Given the description of an element on the screen output the (x, y) to click on. 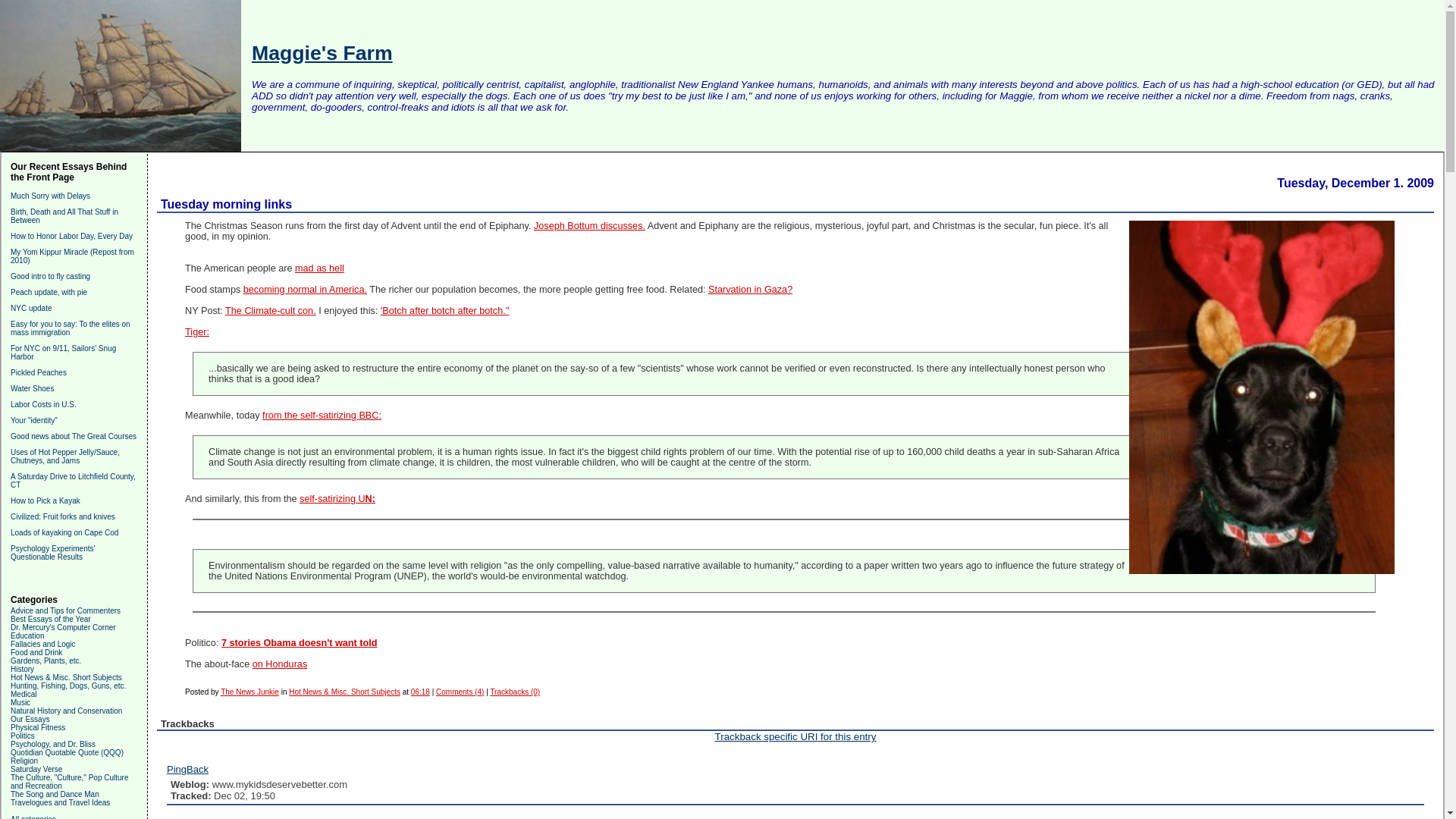
Birth, Death and All That Stuff in Between (63, 216)
Birth, Death and All That Stuff in Between (63, 216)
NYC update (30, 307)
Your "identity" (34, 420)
History (21, 669)
Easy for you to say: To the elites on mass immigration (70, 328)
A Saturday Drive to Litchfield County, CT (72, 480)
Physical Fitness (37, 727)
Gardens, Plants, etc. (45, 660)
Hunting, Fishing, Dogs, Guns, etc. (67, 685)
